Given the description of an element on the screen output the (x, y) to click on. 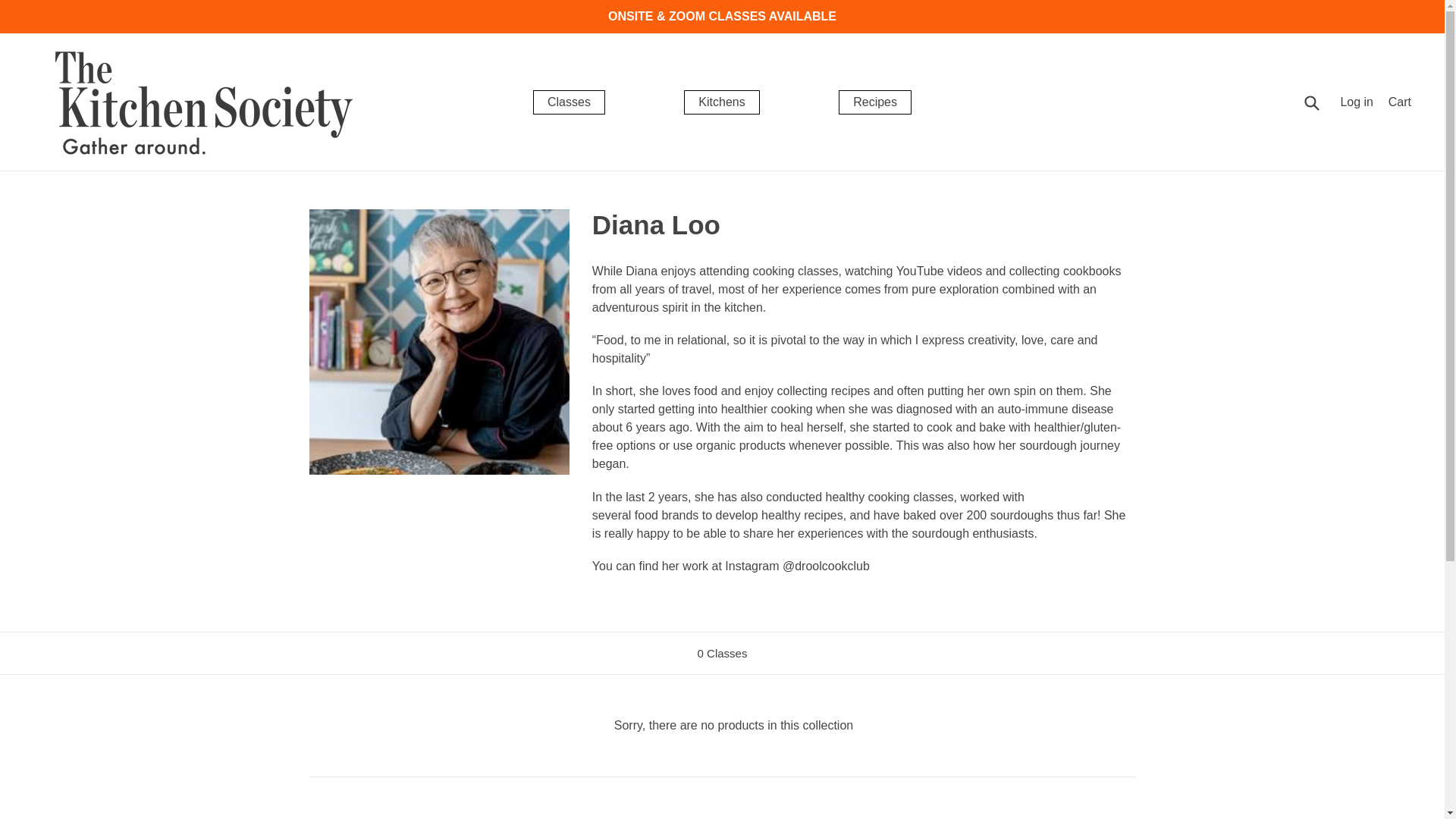
Kitchens (721, 101)
Recipes (874, 101)
Log in (1356, 101)
Classes (568, 101)
